Given the description of an element on the screen output the (x, y) to click on. 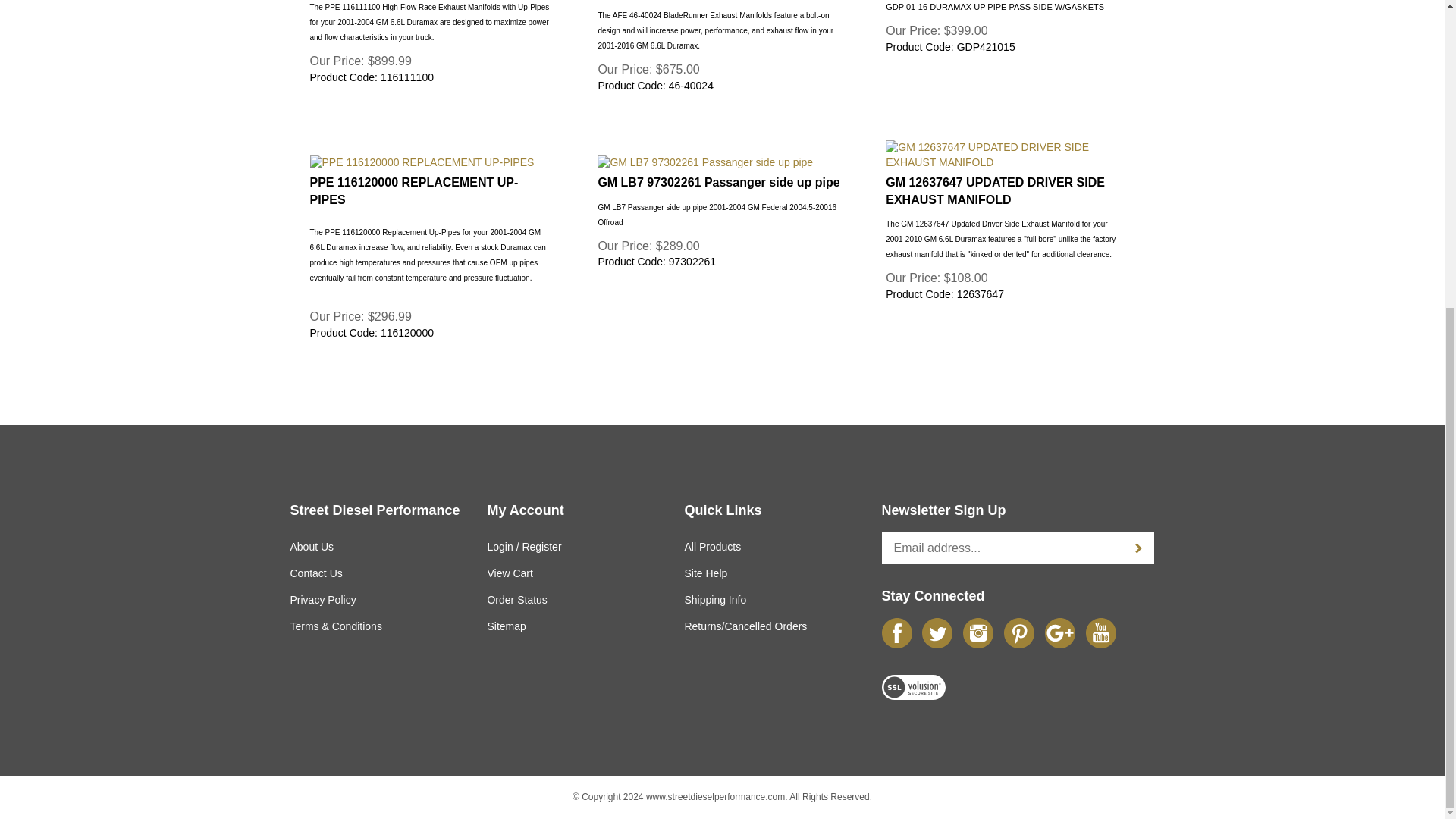
PPE 116120000 REPLACEMENT UP-PIPES (429, 162)
